Given the description of an element on the screen output the (x, y) to click on. 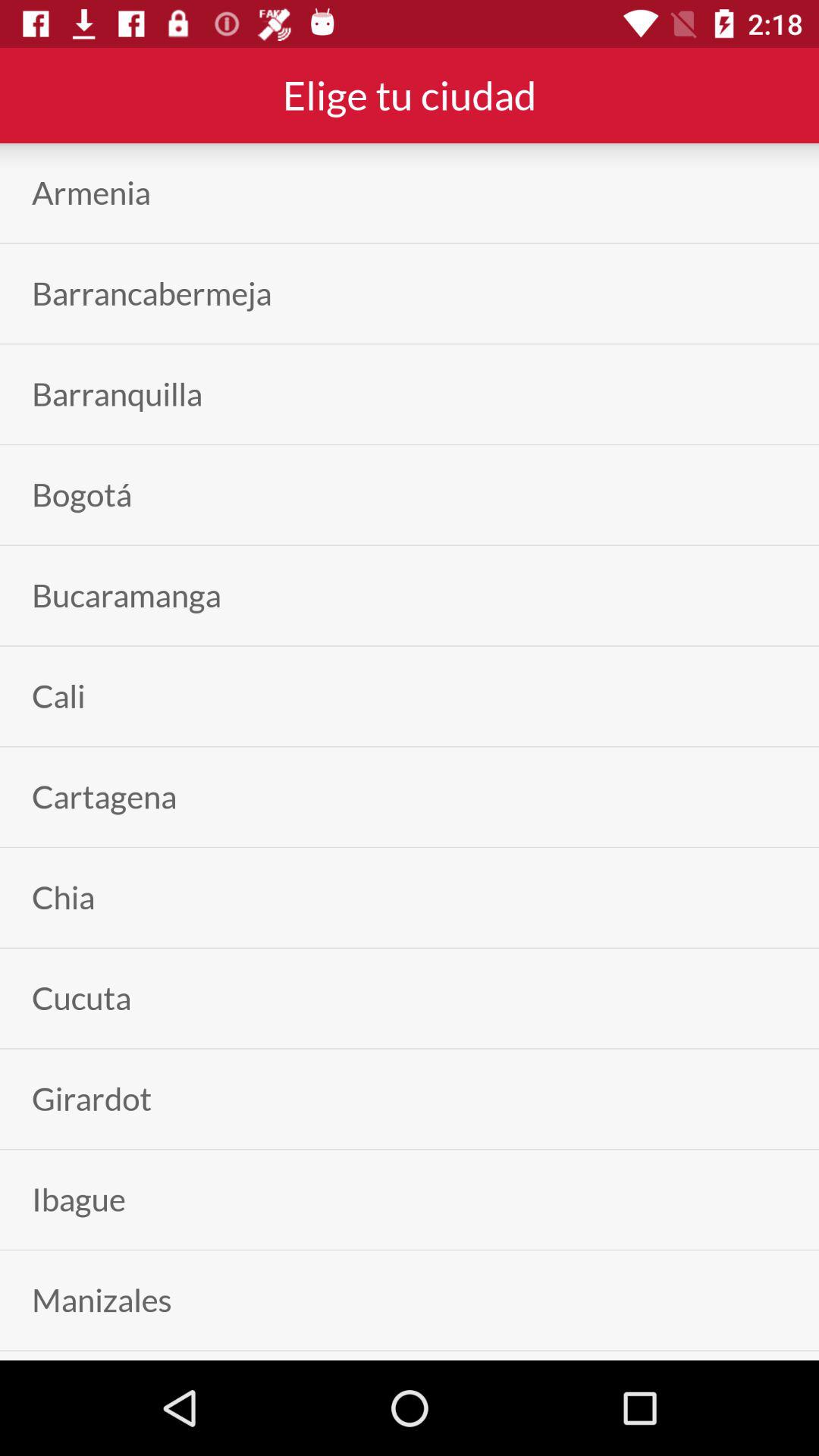
swipe to the cartagena icon (103, 797)
